Given the description of an element on the screen output the (x, y) to click on. 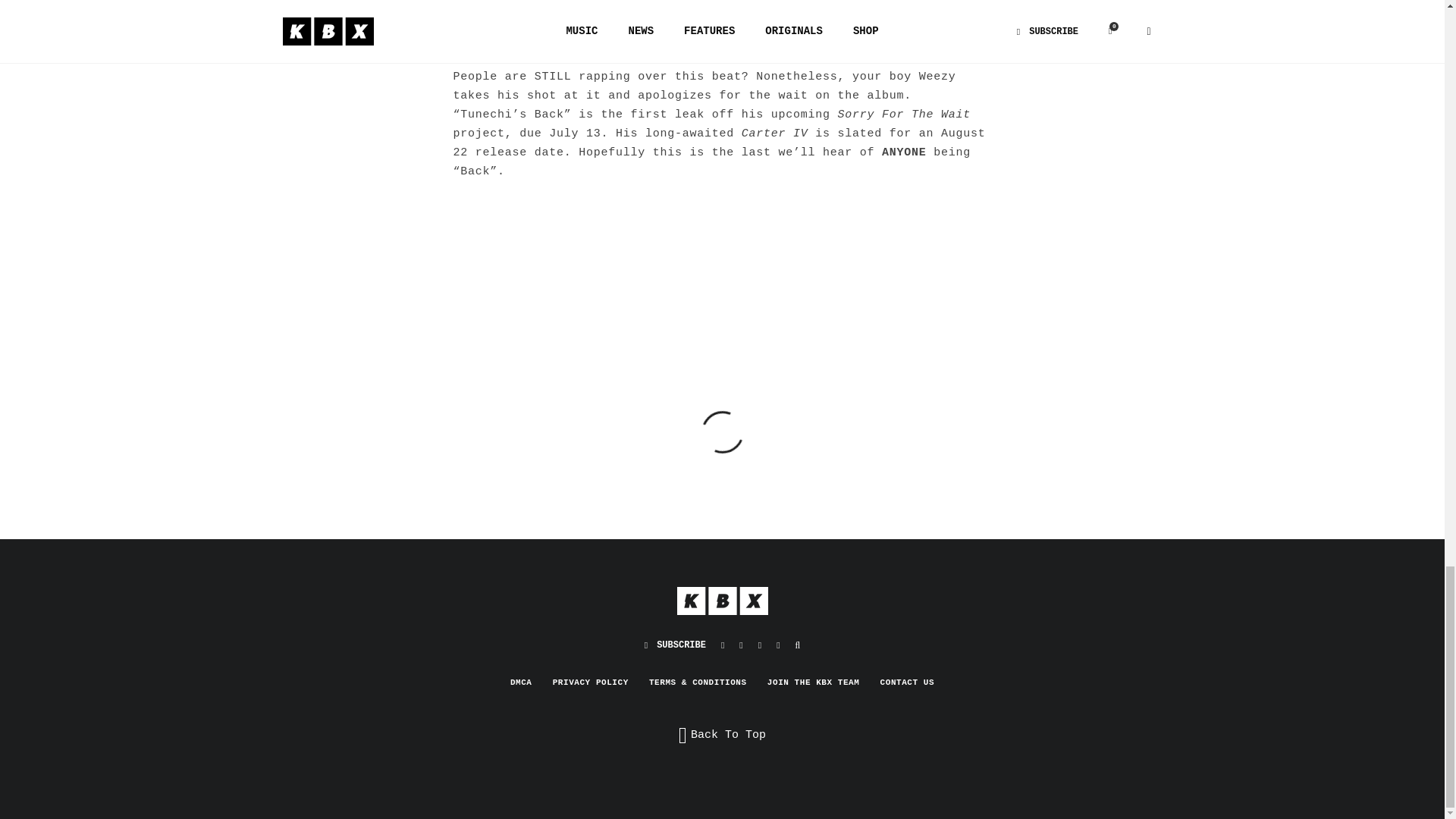
SUBSCRIBE (675, 645)
JOIN THE KBX TEAM (813, 682)
DMCA (521, 682)
CONTACT US (907, 682)
Back To Top (722, 734)
PRIVACY POLICY (590, 682)
